Given the description of an element on the screen output the (x, y) to click on. 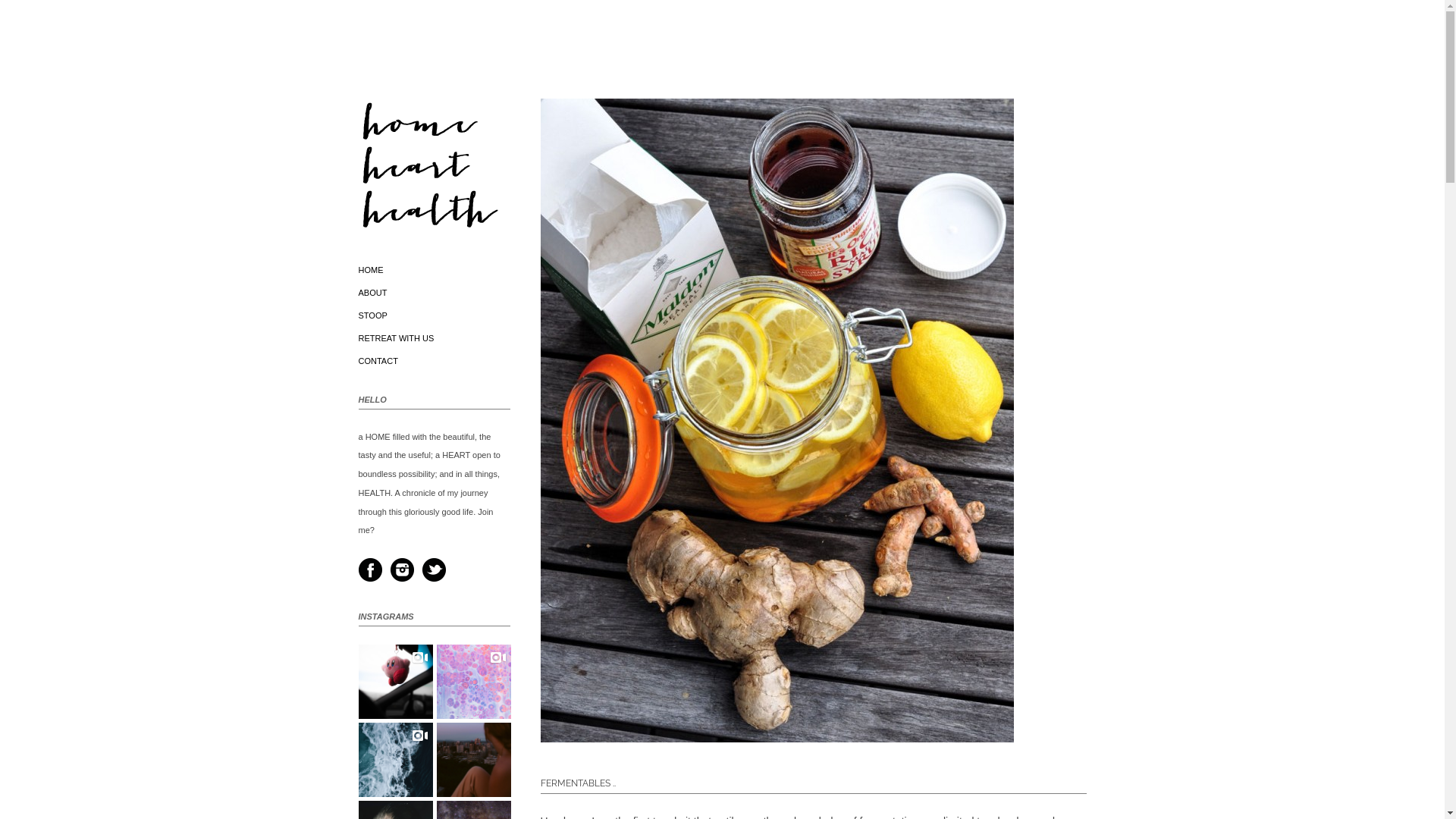
STOOP Element type: text (371, 315)
ABOUT Element type: text (371, 292)
CONTACT Element type: text (377, 360)
HOME Element type: text (369, 269)
RETREAT WITH US Element type: text (395, 337)
